Given the description of an element on the screen output the (x, y) to click on. 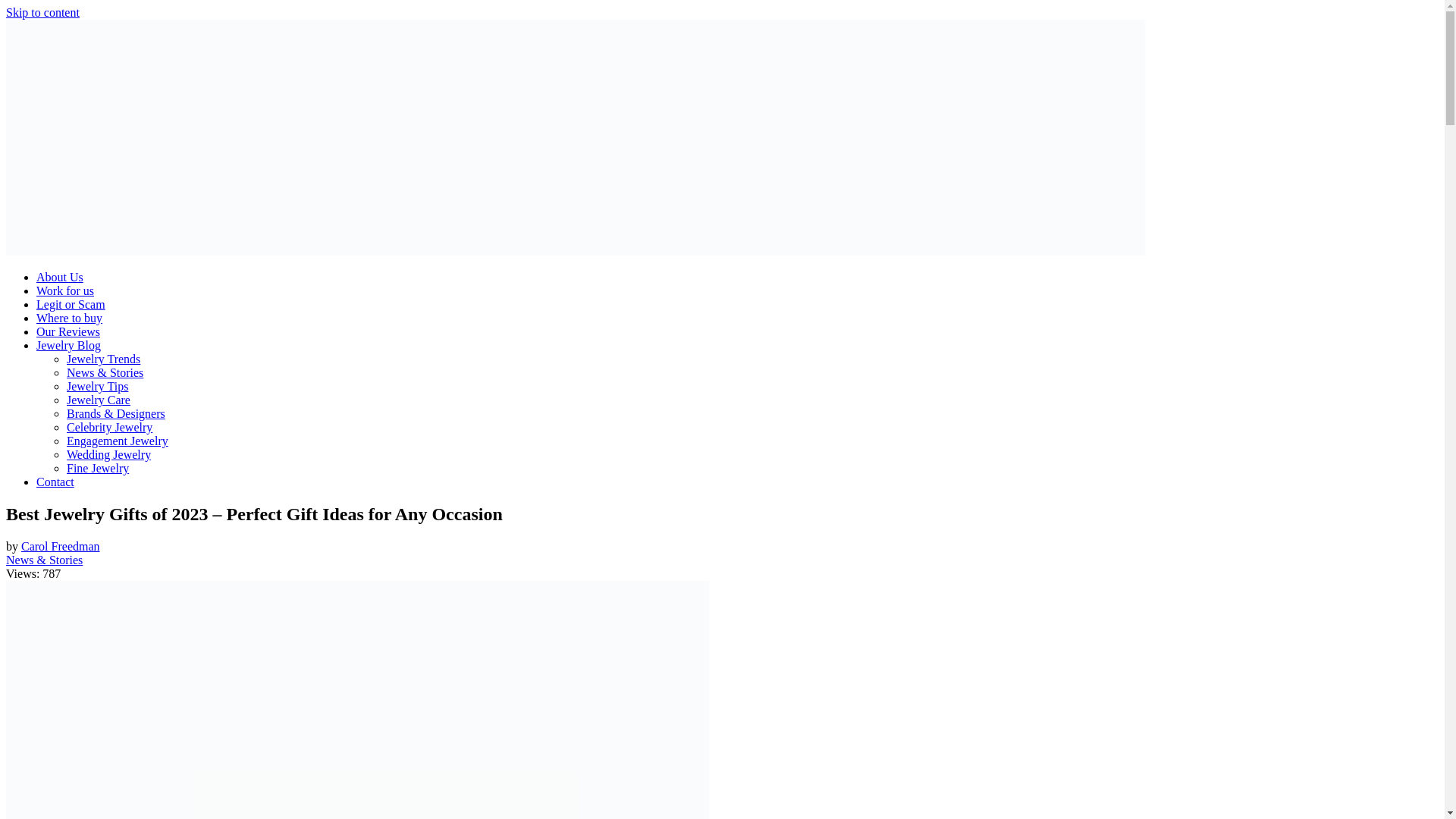
Contact (55, 481)
Engagement Jewelry (117, 440)
Jewelry Tips (97, 386)
Work for us (65, 290)
About Us (59, 277)
Wedding Jewelry (108, 454)
Celebrity Jewelry (109, 427)
Legit or Scam (70, 304)
Jewelry Trends (102, 358)
Where to buy (68, 318)
